Given the description of an element on the screen output the (x, y) to click on. 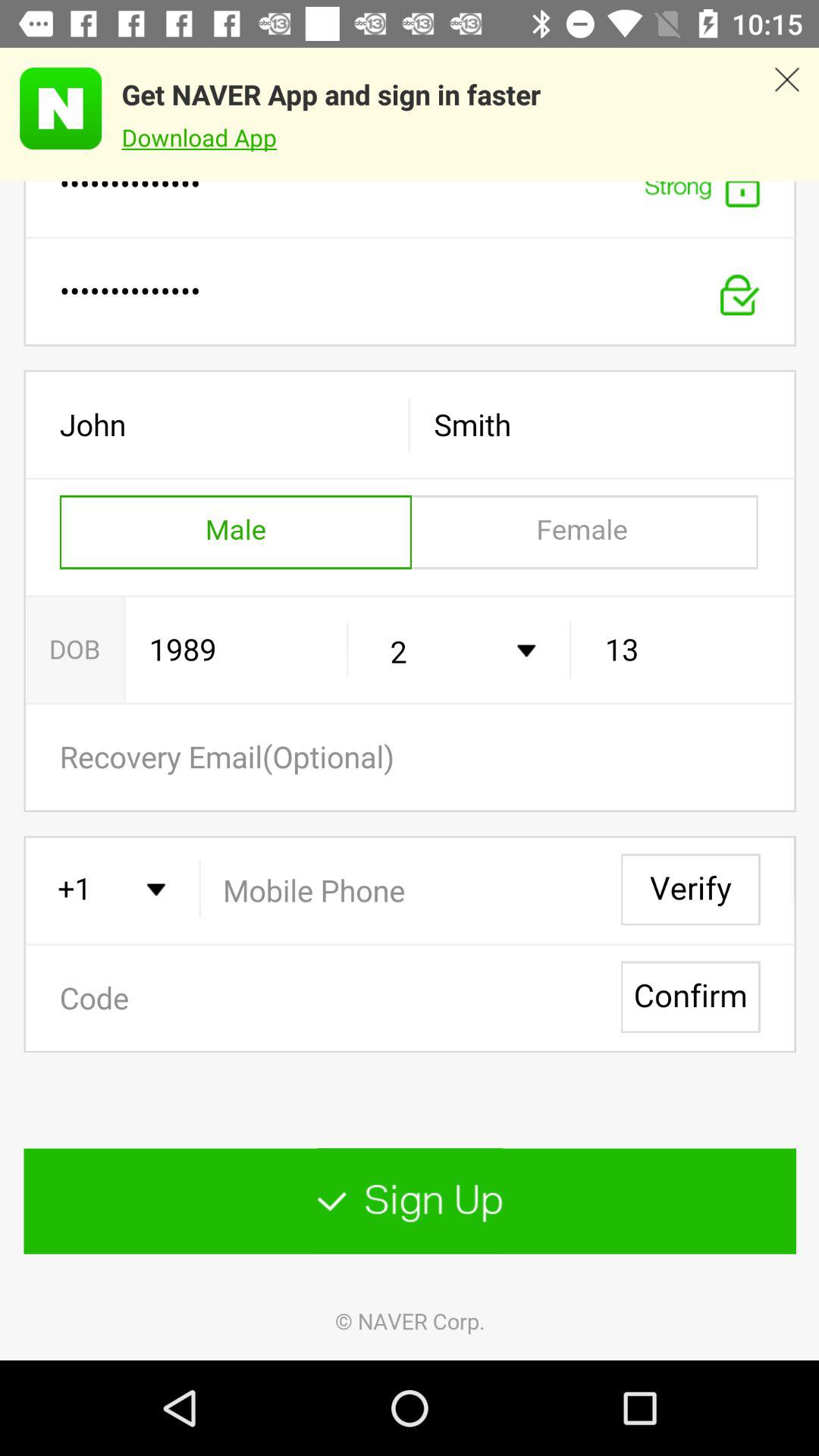
address page (409, 770)
